Given the description of an element on the screen output the (x, y) to click on. 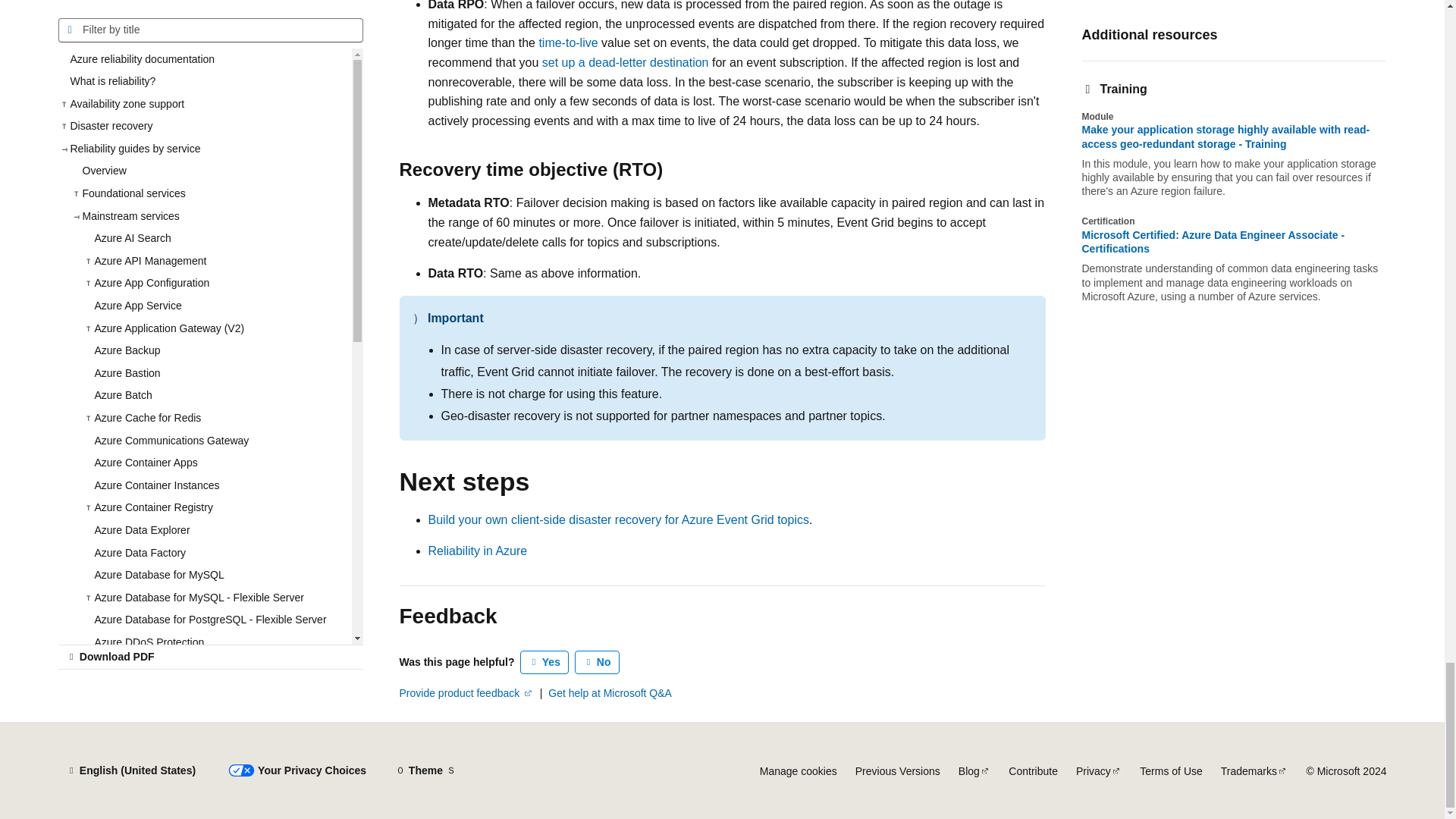
This article is not helpful (597, 662)
Theme (425, 770)
This article is helpful (544, 662)
